Given the description of an element on the screen output the (x, y) to click on. 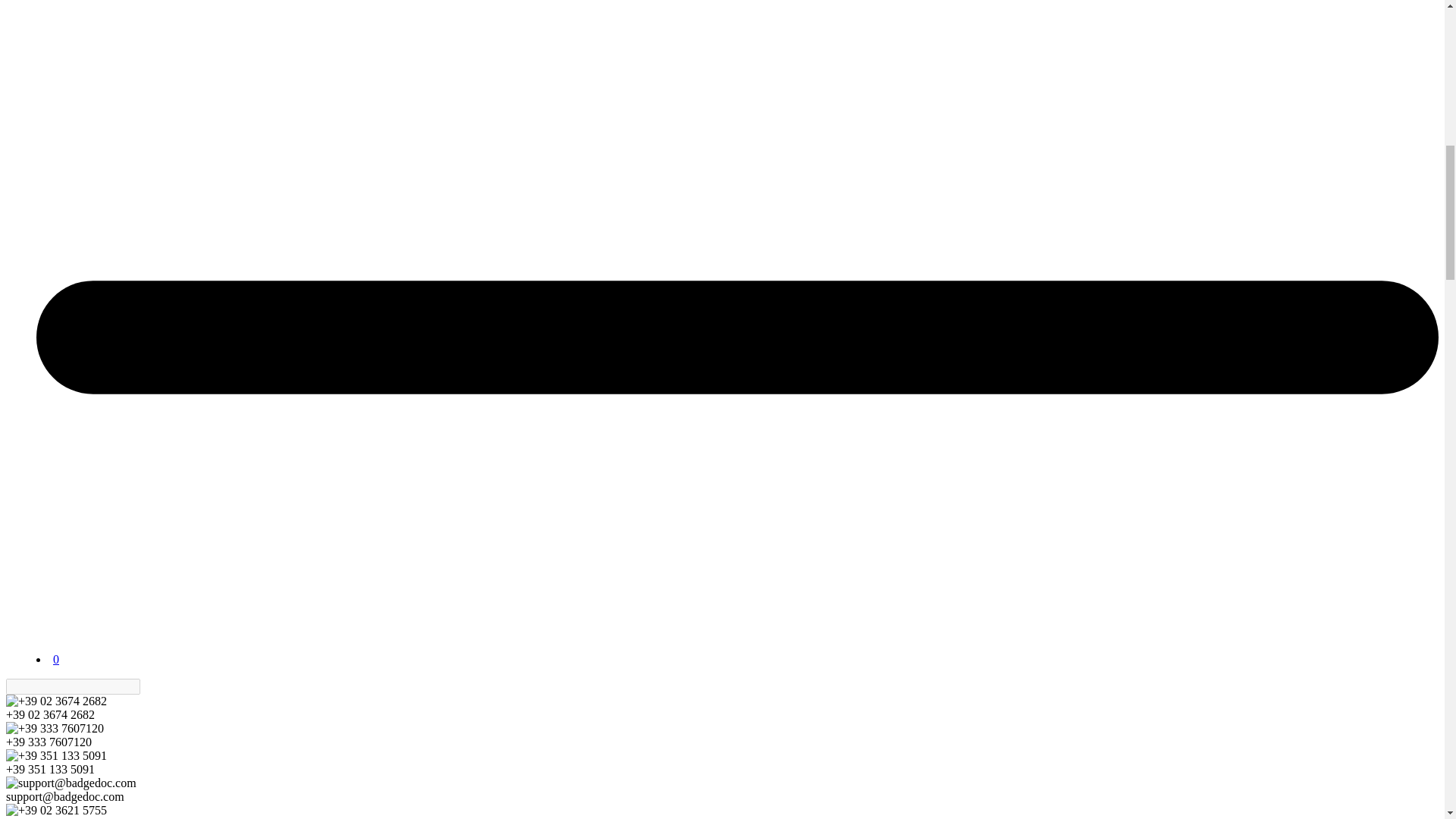
BADGEDOC BC (65, 630)
Recherche (148, 686)
BADGEDOC BC (65, 645)
